Given the description of an element on the screen output the (x, y) to click on. 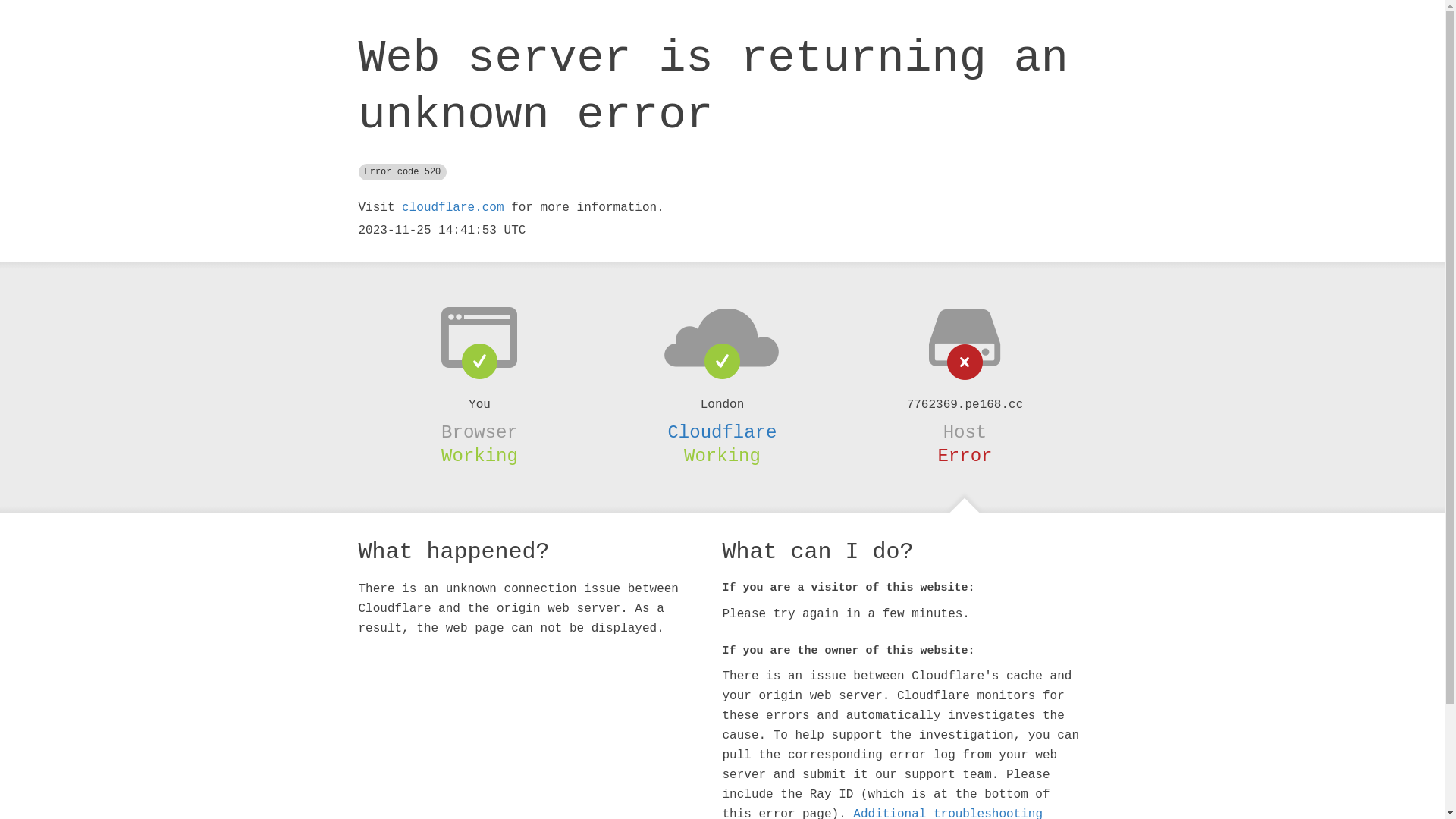
cloudflare.com Element type: text (452, 207)
Cloudflare Element type: text (721, 432)
